Given the description of an element on the screen output the (x, y) to click on. 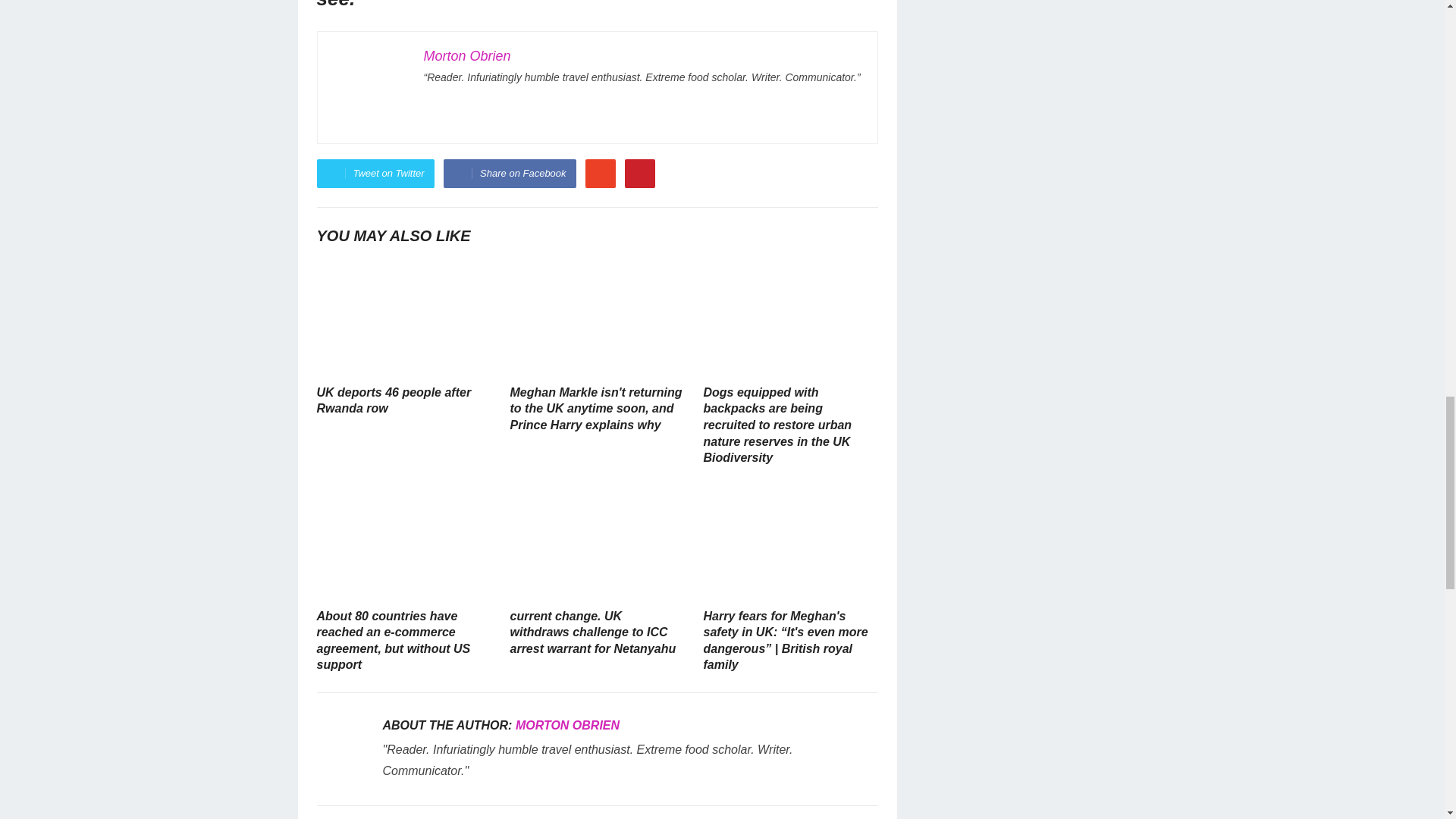
Morton Obrien (467, 55)
Tweet on Twitter (375, 173)
UK deports 46 people after Rwanda row (404, 318)
Pinterest (639, 173)
UK deports 46 people after Rwanda row (394, 400)
Share on Facebook (509, 173)
